Given the description of an element on the screen output the (x, y) to click on. 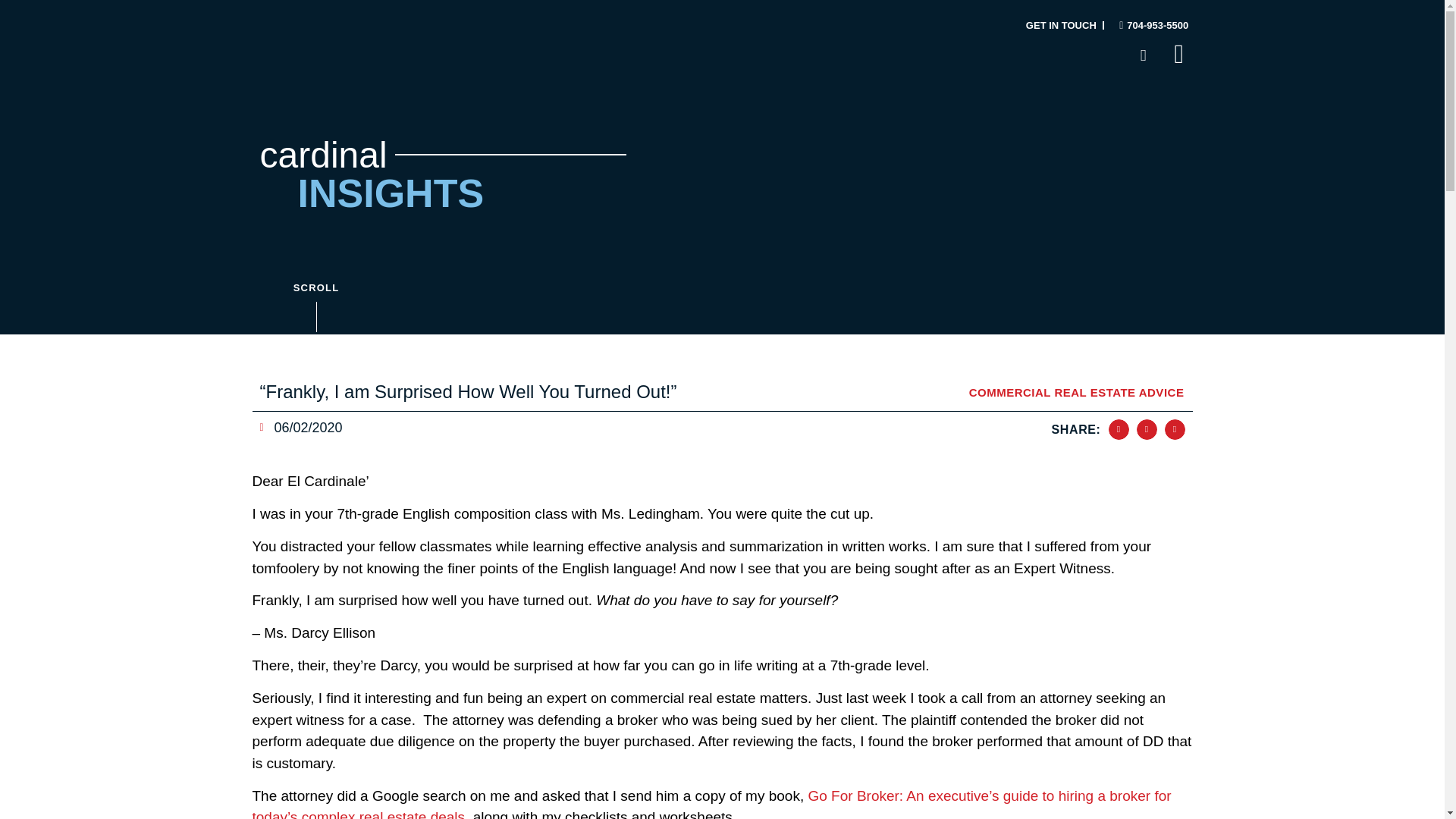
COMMERCIAL REAL ESTATE ADVICE (1077, 391)
GET IN TOUCH (1061, 25)
704-953-5500 (1148, 24)
